Given the description of an element on the screen output the (x, y) to click on. 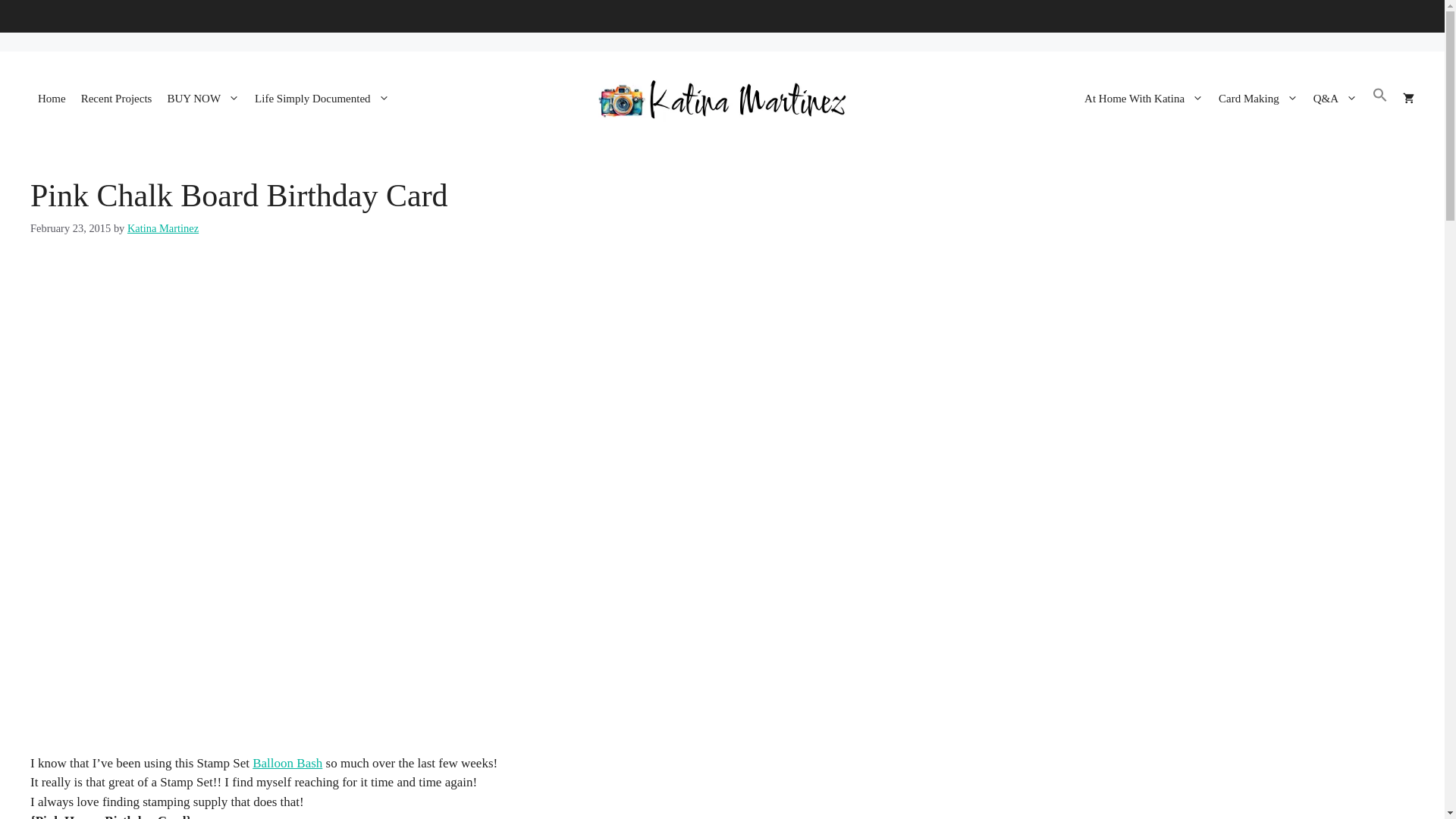
Katina Martinez (721, 98)
BUY NOW (202, 98)
View all posts by Katina Martinez (163, 227)
Recent Projects (117, 98)
Life Simply Documented (321, 98)
